Given the description of an element on the screen output the (x, y) to click on. 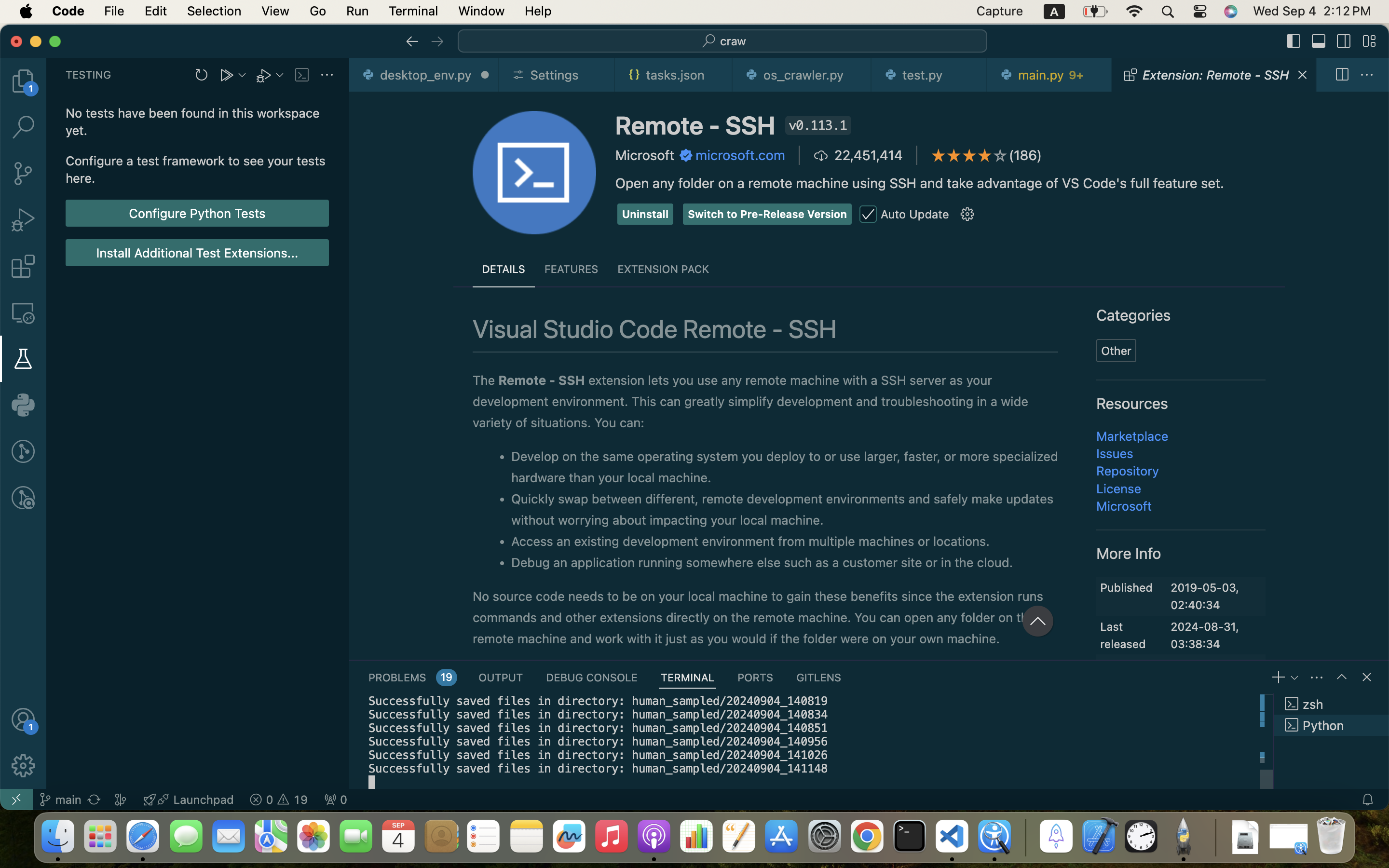
0 OUTPUT Element type: AXRadioButton (500, 676)
 Element type: AXStaticText (22, 765)
Microsoft Element type: AXStaticText (645, 154)
0 DEBUG CONSOLE Element type: AXRadioButton (591, 676)
Python  Element type: AXGroup (1331, 724)
